Given the description of an element on the screen output the (x, y) to click on. 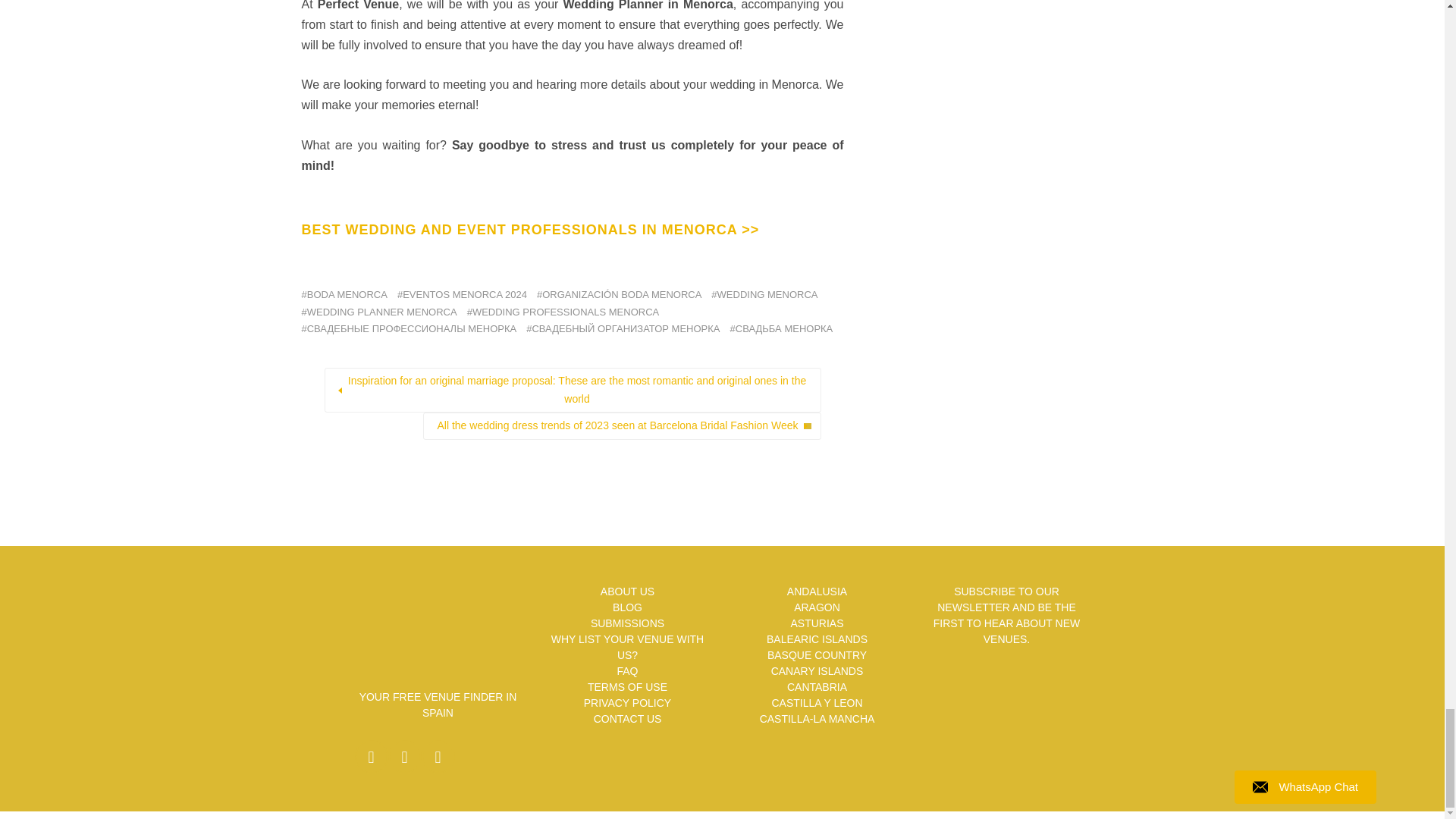
EVENTOS MENORCA 2024 (462, 294)
BODA MENORCA (344, 294)
WEDDING MENORCA (763, 294)
WEDDING PLANNER MENORCA (379, 312)
WEDDING PROFESSIONALS MENORCA (563, 312)
